Given the description of an element on the screen output the (x, y) to click on. 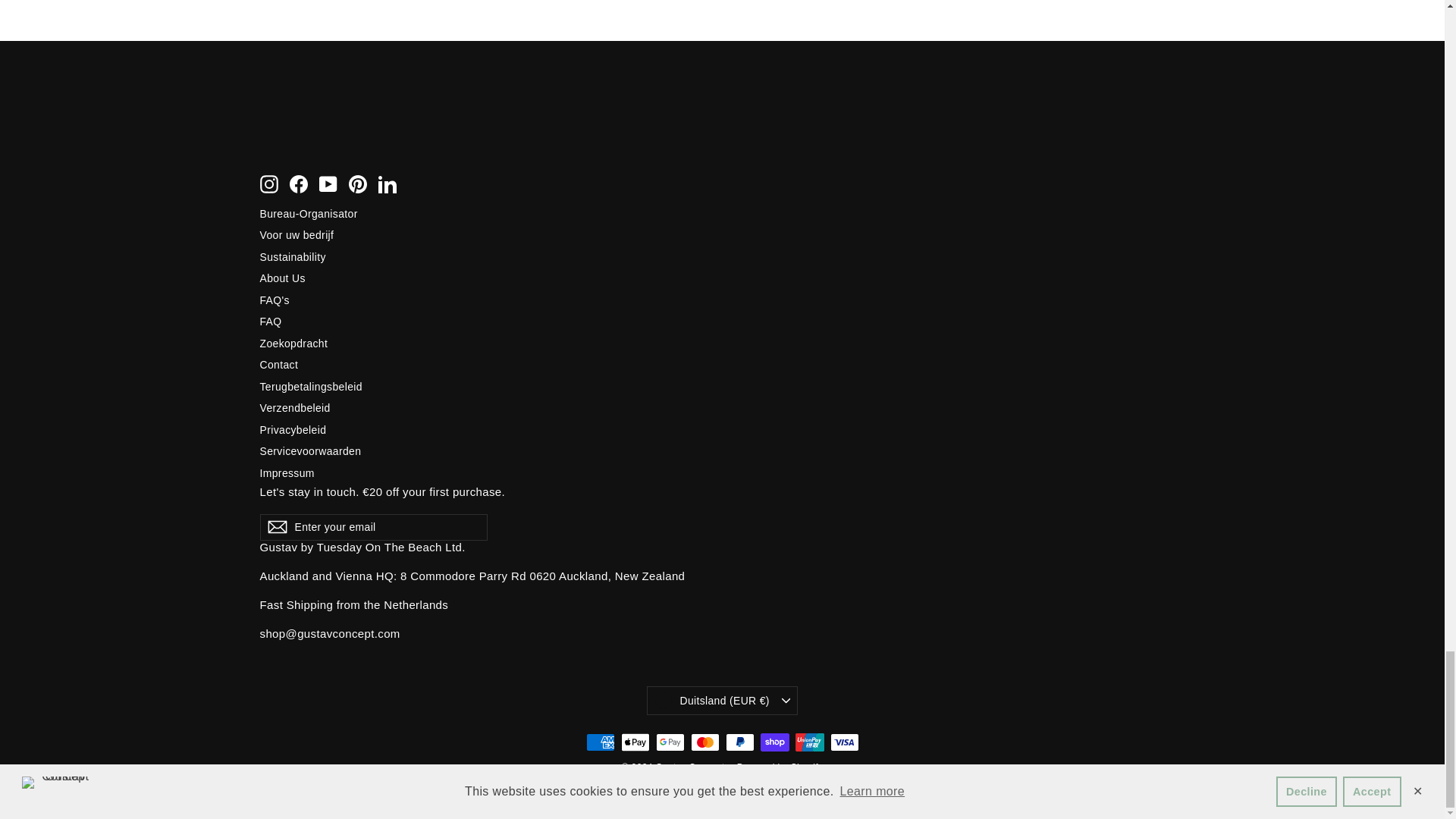
Apple Pay (634, 742)
Gustav Concept on Pinterest (357, 184)
Shop Pay (774, 742)
Gustav Concept on LinkedIn (386, 184)
Gustav Concept on Instagram (268, 184)
Gustav Concept on Facebook (298, 184)
PayPal (739, 742)
Mastercard (704, 742)
instagram (268, 184)
American Express (599, 742)
